Given the description of an element on the screen output the (x, y) to click on. 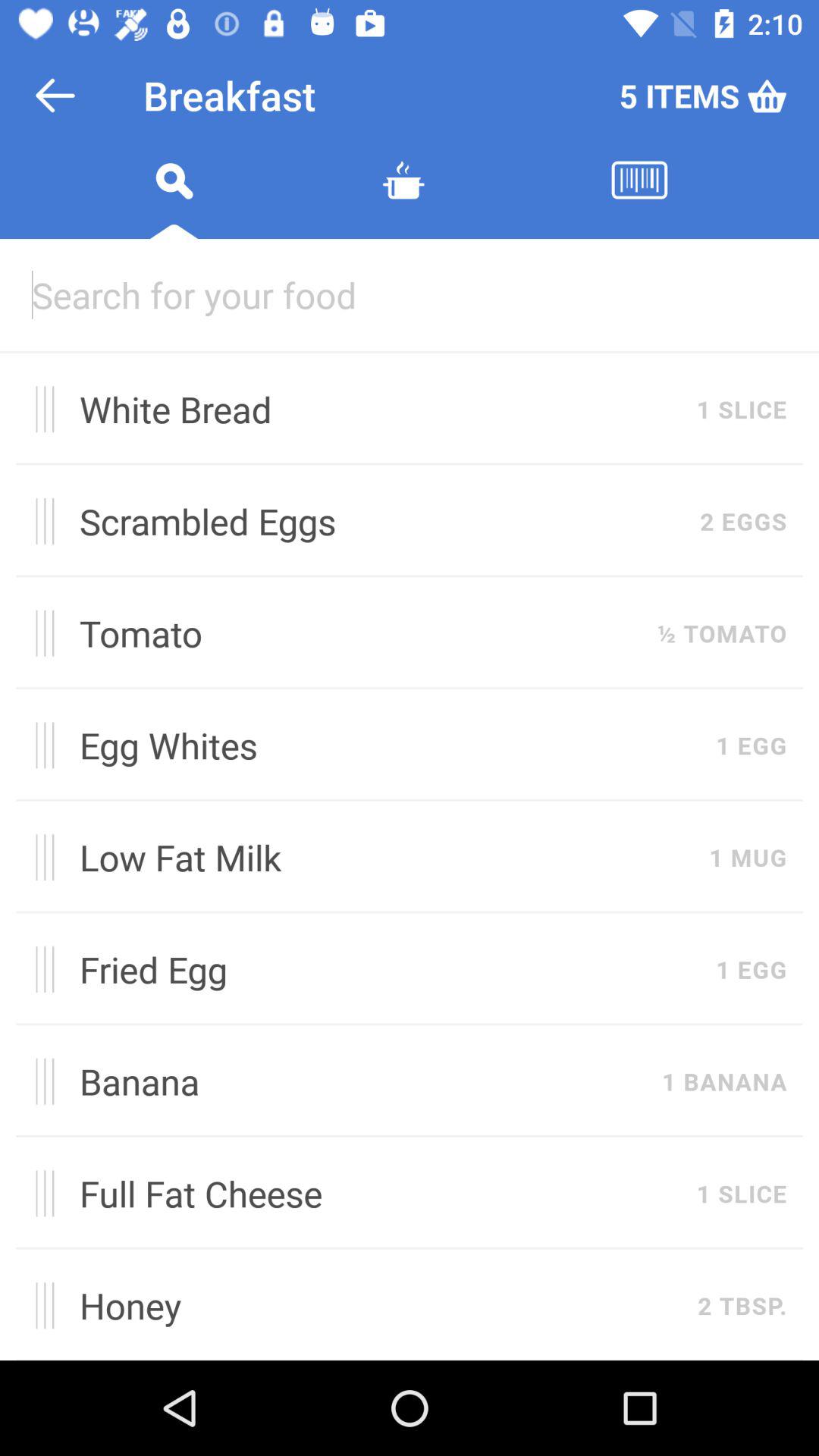
press low fat milk item (385, 857)
